Given the description of an element on the screen output the (x, y) to click on. 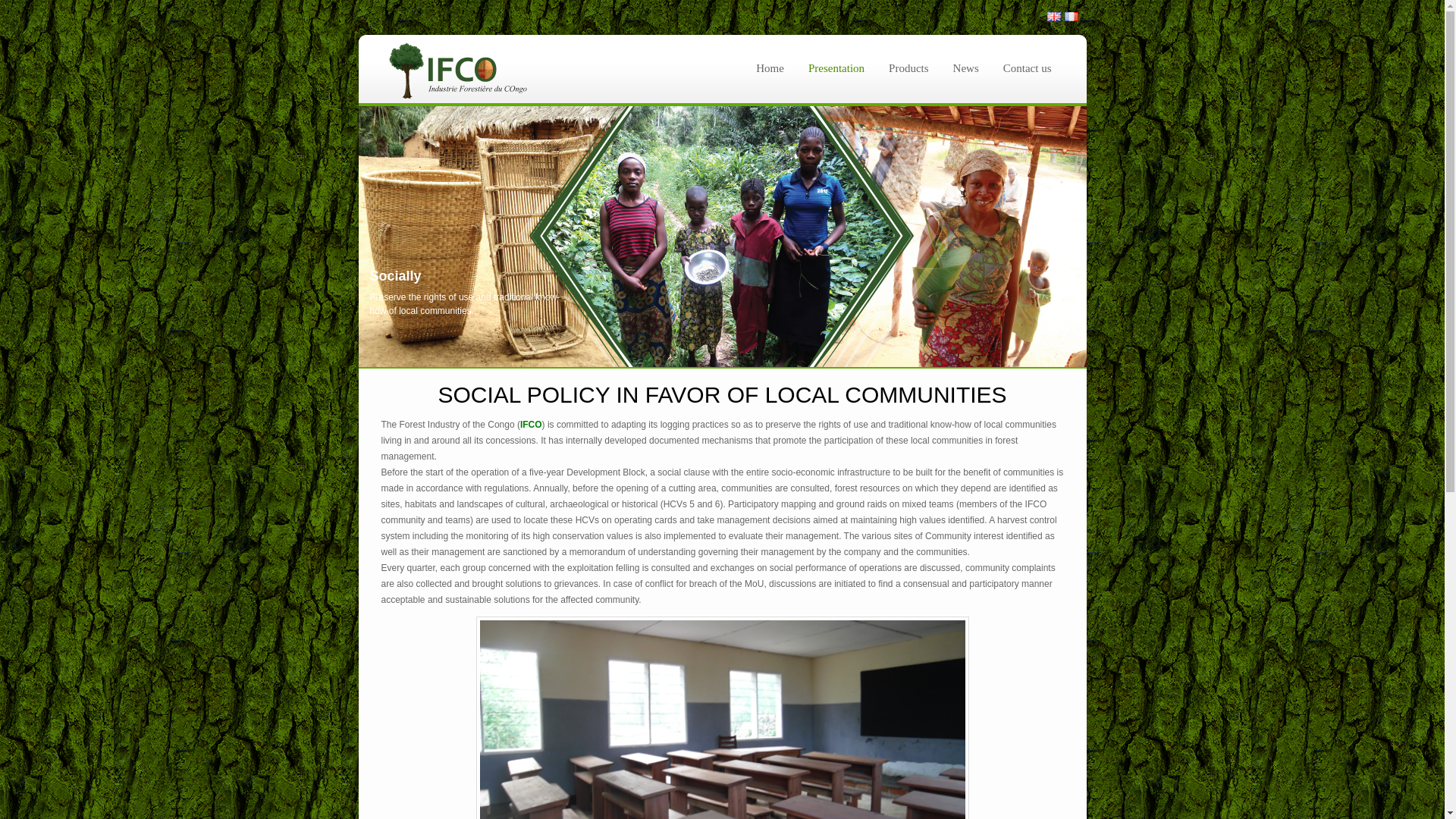
Home (769, 68)
Products (908, 68)
Presentation (836, 68)
